Given the description of an element on the screen output the (x, y) to click on. 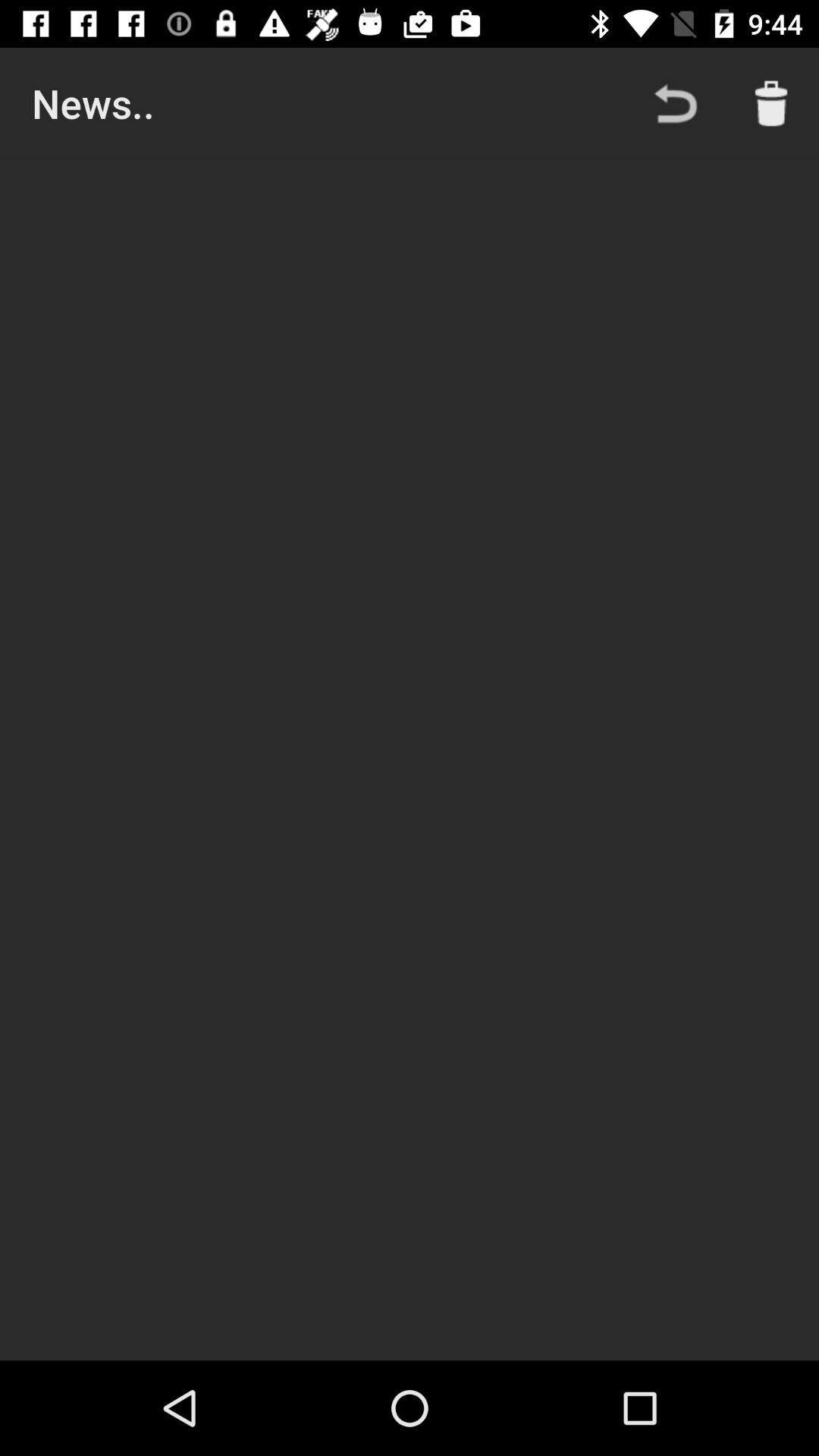
press icon at the center (409, 759)
